Given the description of an element on the screen output the (x, y) to click on. 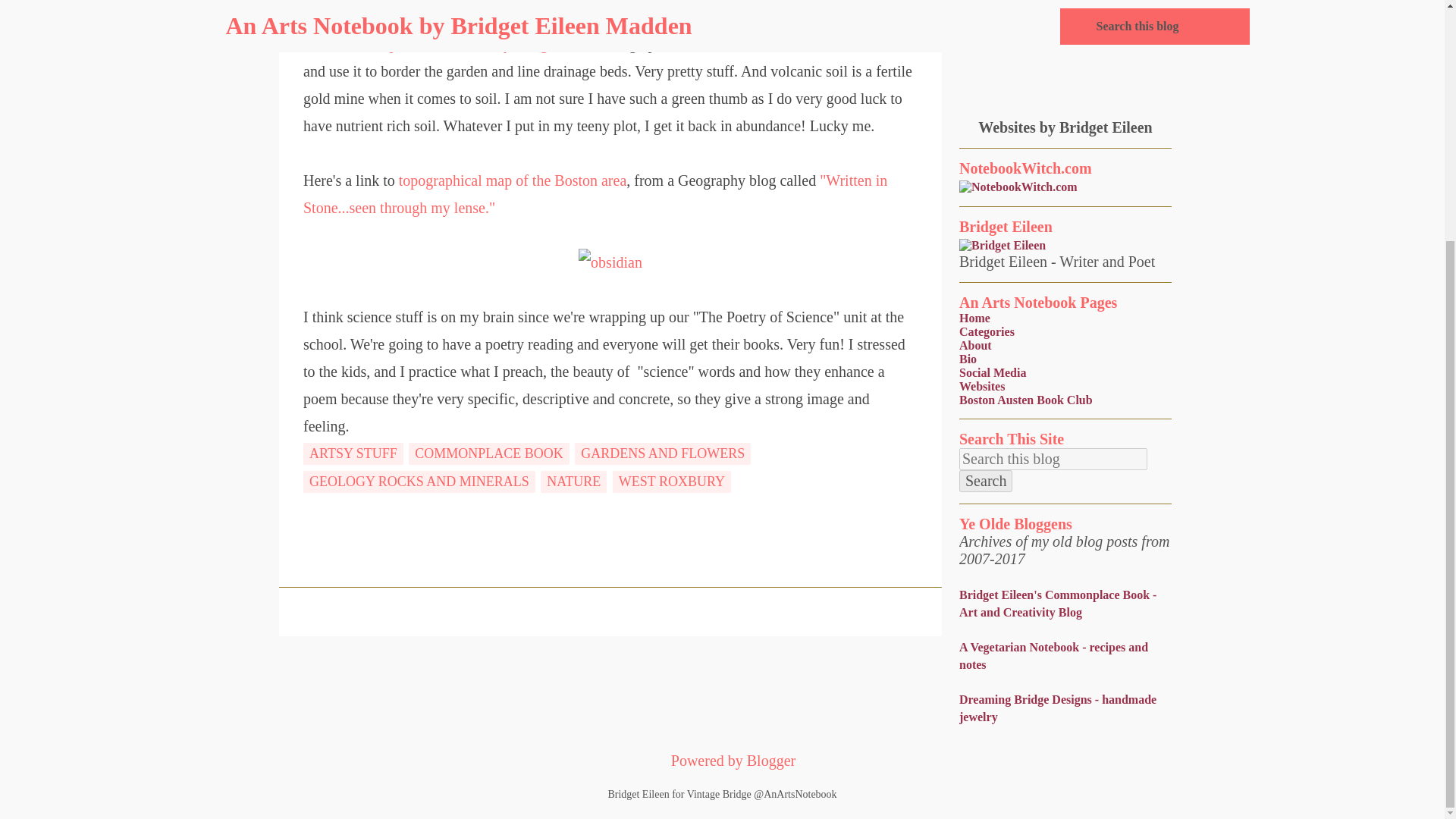
Powered by Blogger (721, 760)
"Written in Stone...seen through my lense." (594, 193)
WEST ROXBURY (671, 481)
topographical map of the Boston area (512, 180)
GEOLOGY ROCKS AND MINERALS (418, 481)
Bridget Eileen's Commonplace Book - Art and Creativity Blog (1057, 603)
Home (974, 318)
Roxbury Conglomerate (528, 44)
a mafic volcanic rock (828, 44)
GARDENS AND FLOWERS (663, 454)
Websites (981, 386)
Search (985, 481)
Search (985, 481)
Categories (986, 331)
Dreaming Bridge Designs - handmade jewelry (1057, 707)
